Given the description of an element on the screen output the (x, y) to click on. 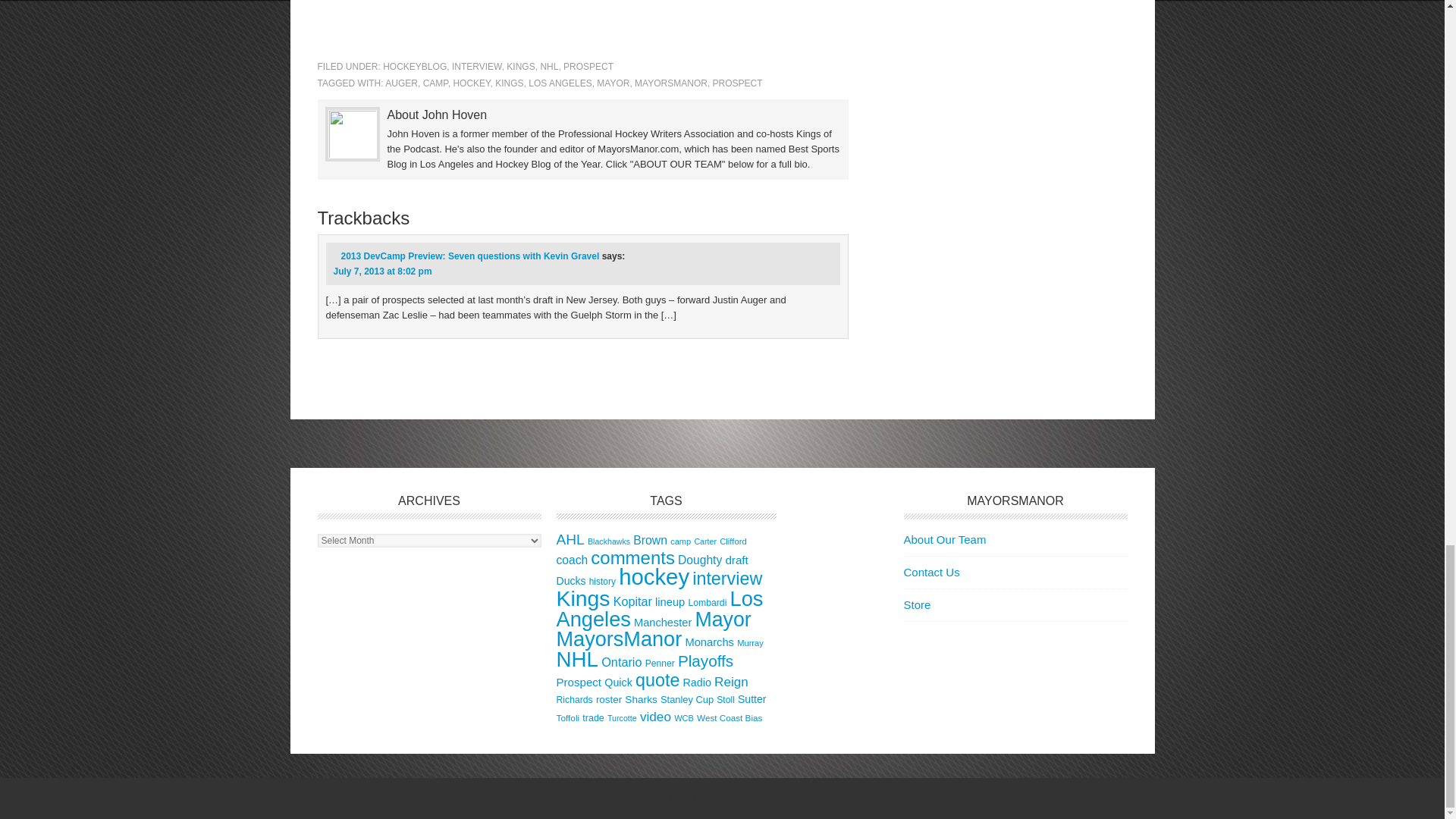
LOS ANGELES (559, 82)
CAMP (435, 82)
HOCKEYBLOG (414, 66)
MAYOR (612, 82)
PROSPECT (737, 82)
PROSPECT (587, 66)
KINGS (508, 82)
NHL (548, 66)
2013 DevCamp Preview: Seven questions with Kevin Gravel (469, 255)
KINGS (520, 66)
July 7, 2013 at 8:02 pm (382, 271)
MAYORSMANOR (670, 82)
INTERVIEW (476, 66)
HOCKEY (470, 82)
AUGER (401, 82)
